Given the description of an element on the screen output the (x, y) to click on. 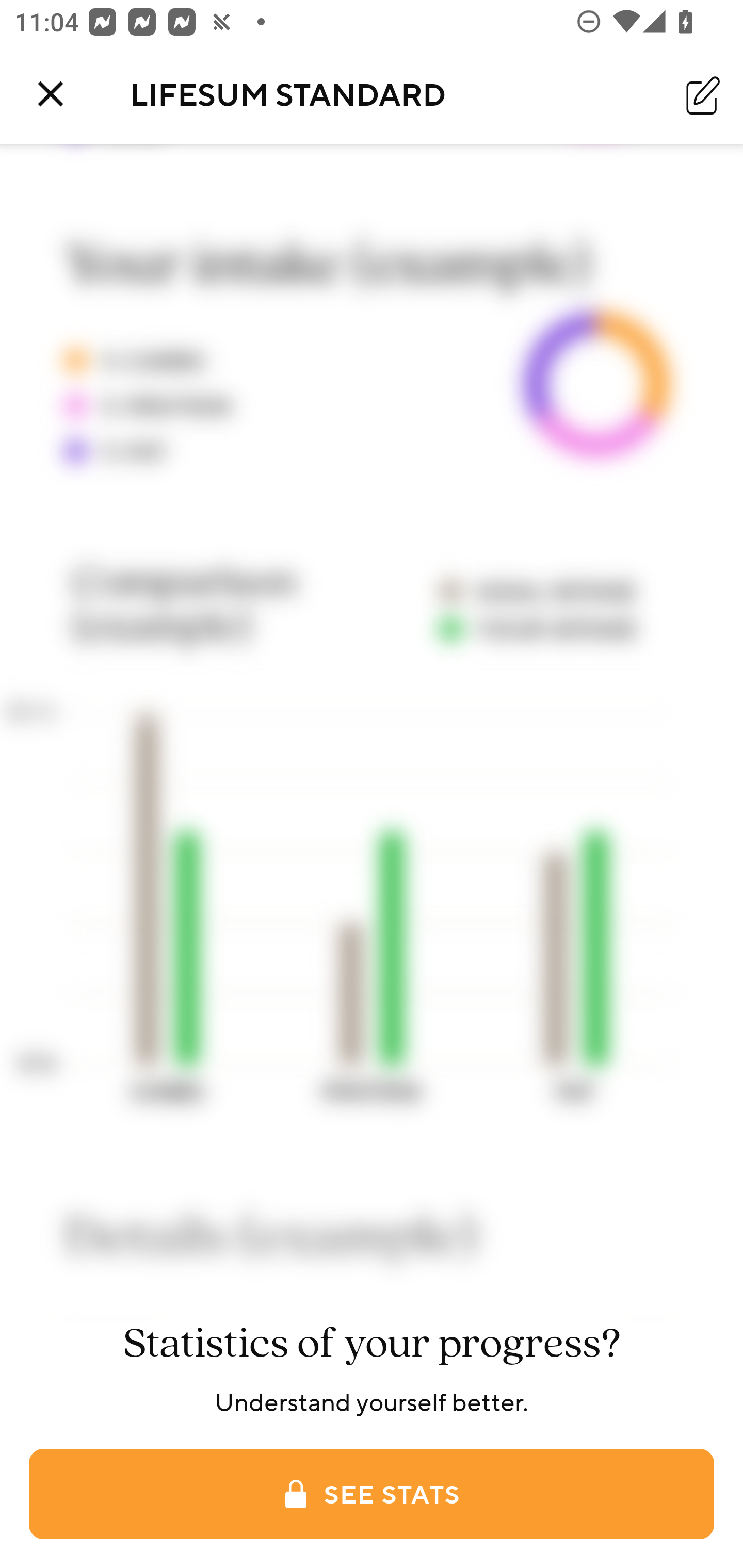
SEE STATS (371, 1493)
